Given the description of an element on the screen output the (x, y) to click on. 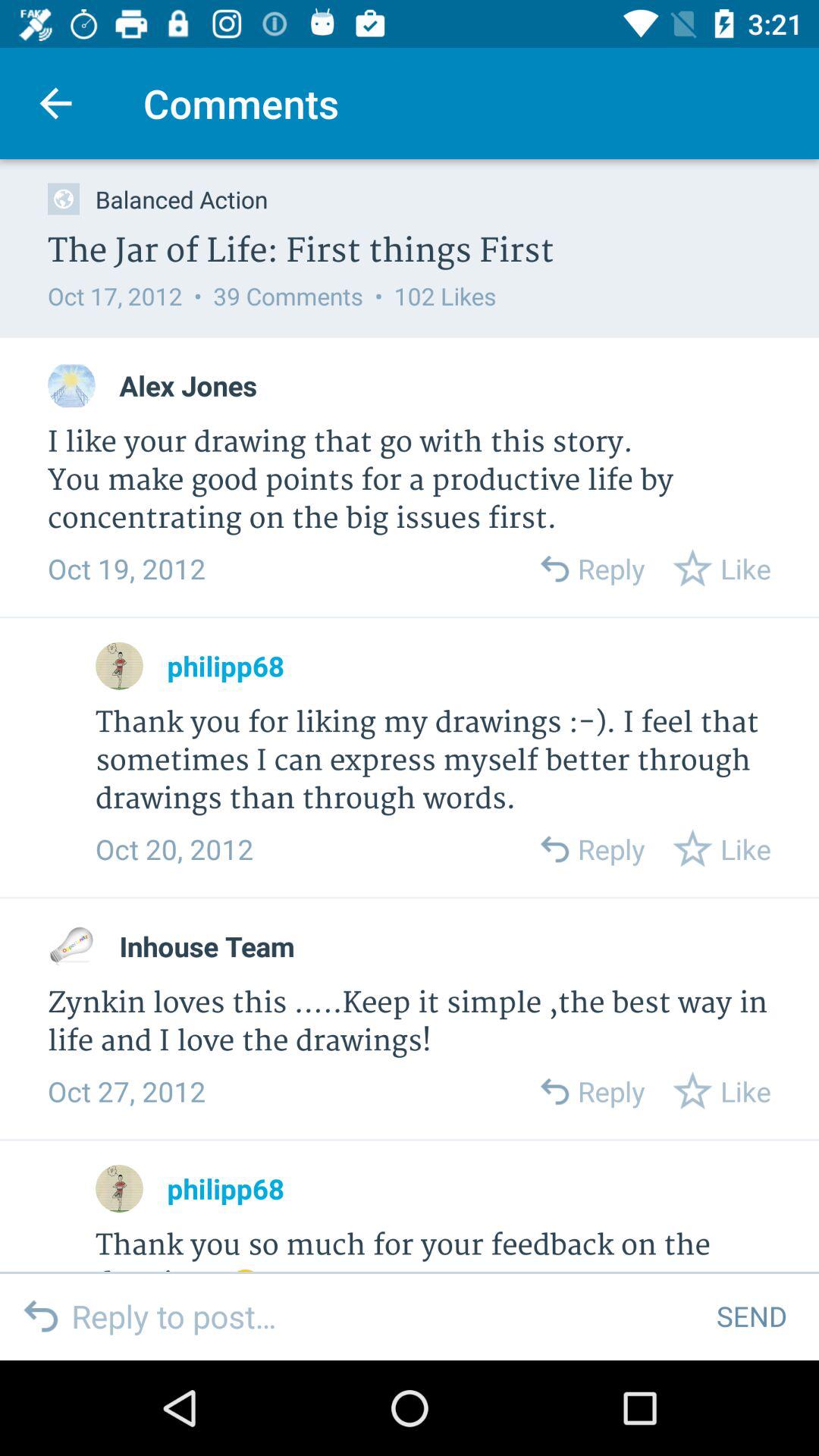
click the i like your item (409, 480)
